Given the description of an element on the screen output the (x, y) to click on. 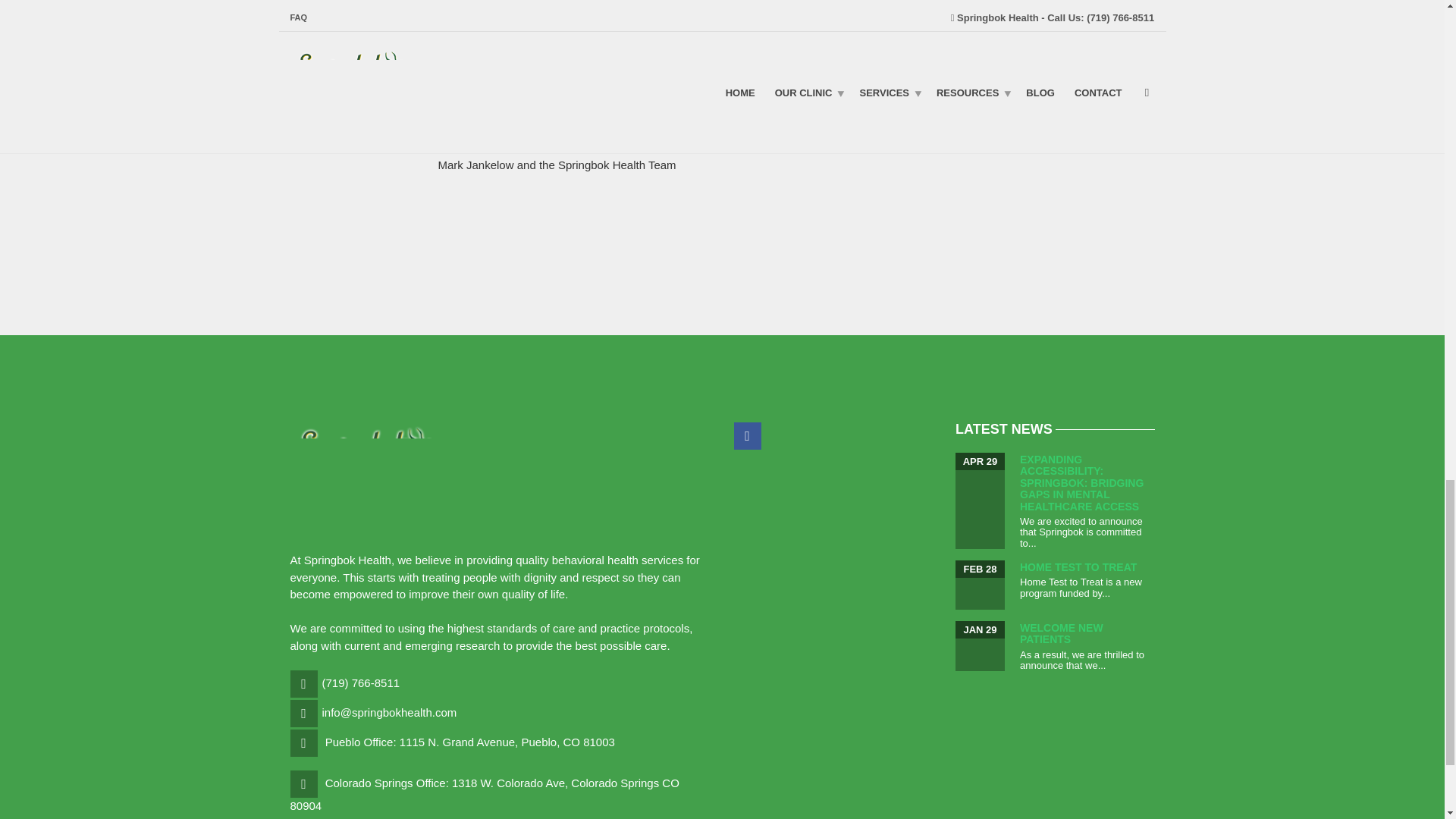
Pueblo Office: 1115 N. Grand Avenue, Pueblo, CO 81003 (469, 741)
HOME TEST TO TREAT (1078, 567)
WELCOME NEW PATIENTS (1061, 633)
